Given the description of an element on the screen output the (x, y) to click on. 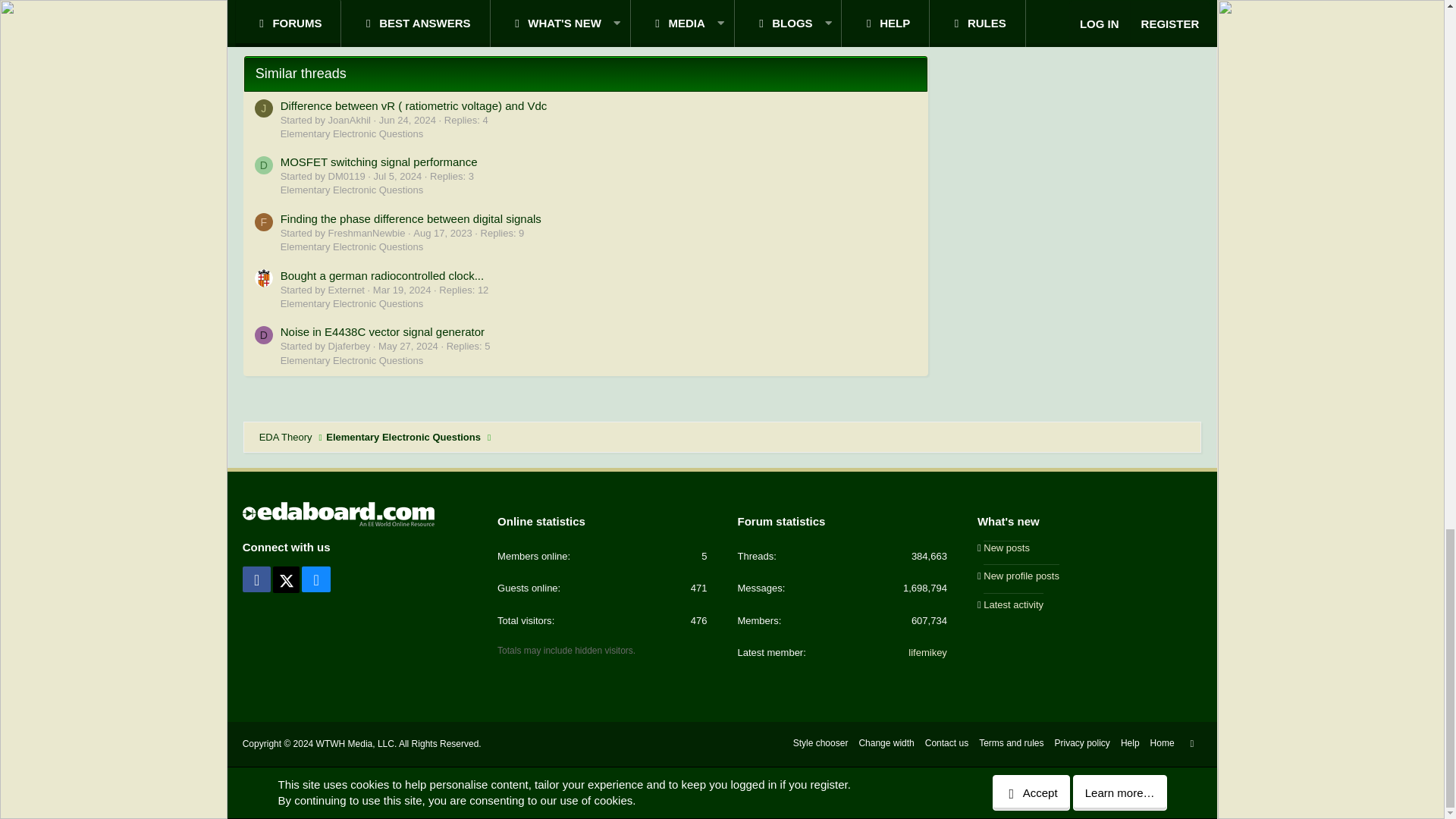
Mar 19, 2024 at 12:08 AM (401, 289)
Jun 24, 2024 at 8:57 AM (406, 120)
Aug 17, 2023 at 8:57 AM (442, 233)
Jul 5, 2024 at 12:02 AM (398, 175)
